Given the description of an element on the screen output the (x, y) to click on. 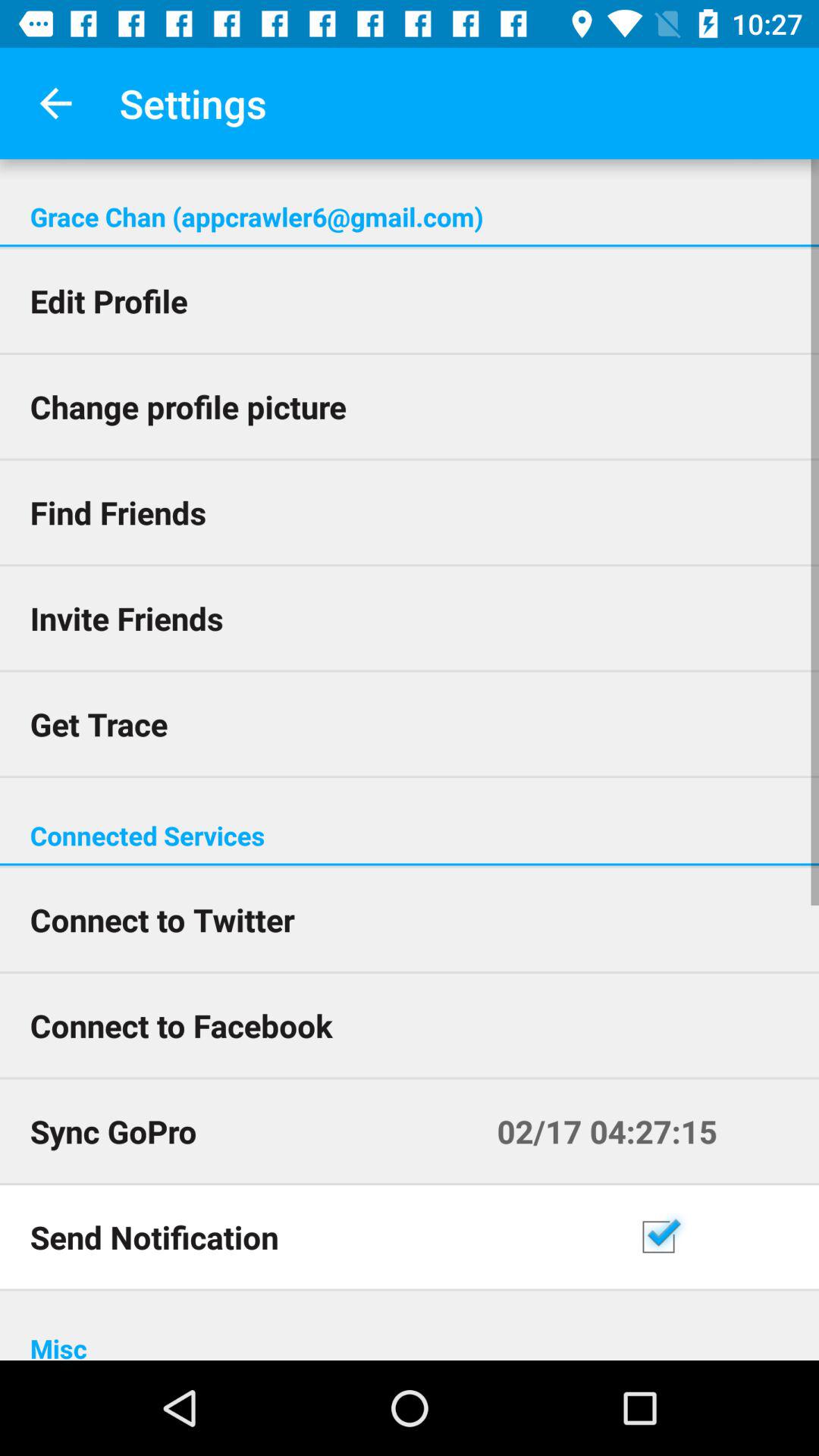
select icon below the find friends item (409, 617)
